Given the description of an element on the screen output the (x, y) to click on. 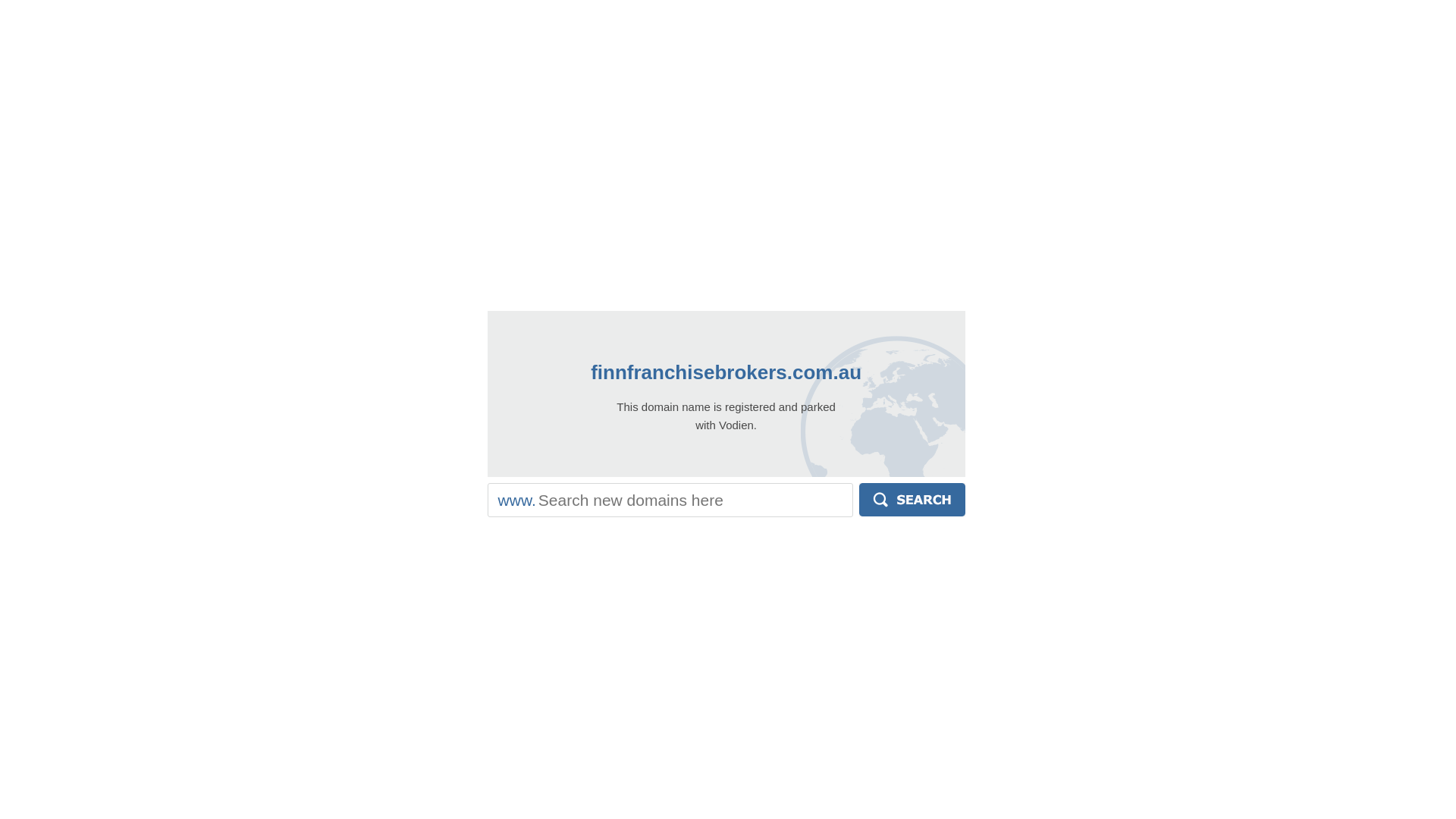
Search Element type: text (912, 499)
